Given the description of an element on the screen output the (x, y) to click on. 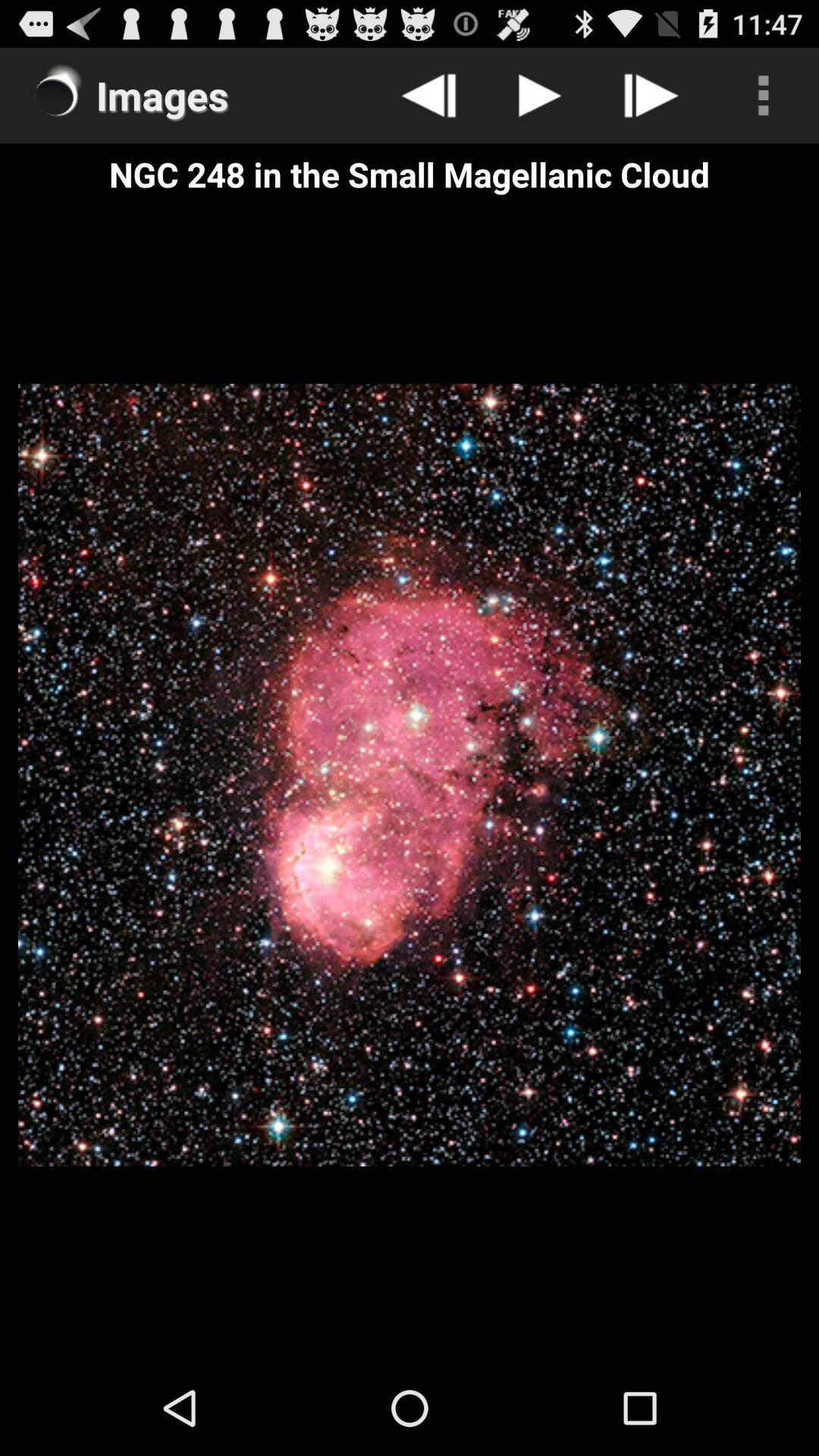
go back (428, 95)
